Given the description of an element on the screen output the (x, y) to click on. 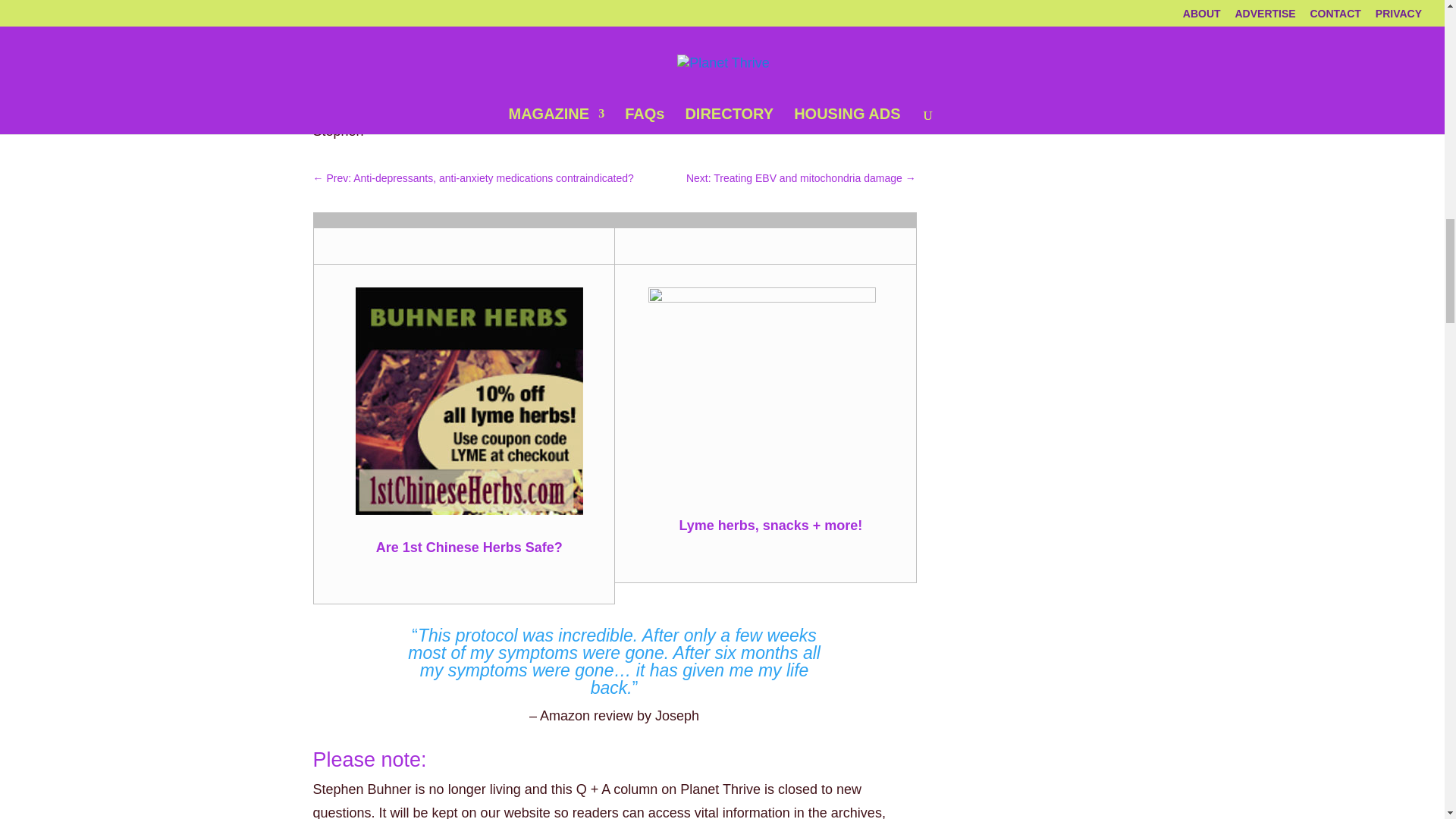
Are 1st Chinese Herbs Safe? (468, 547)
